Given the description of an element on the screen output the (x, y) to click on. 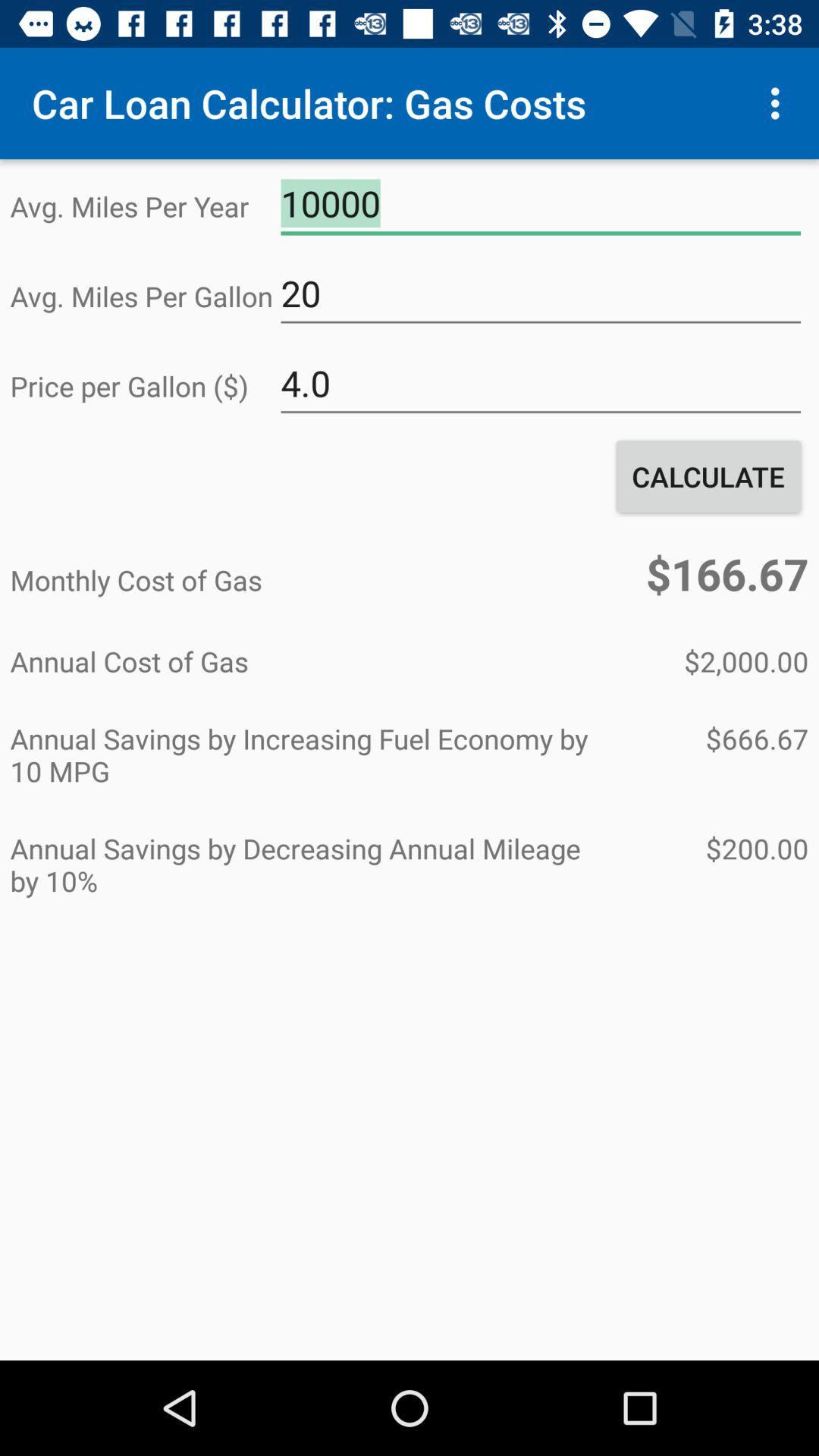
press item next to the car loan calculator icon (779, 103)
